Given the description of an element on the screen output the (x, y) to click on. 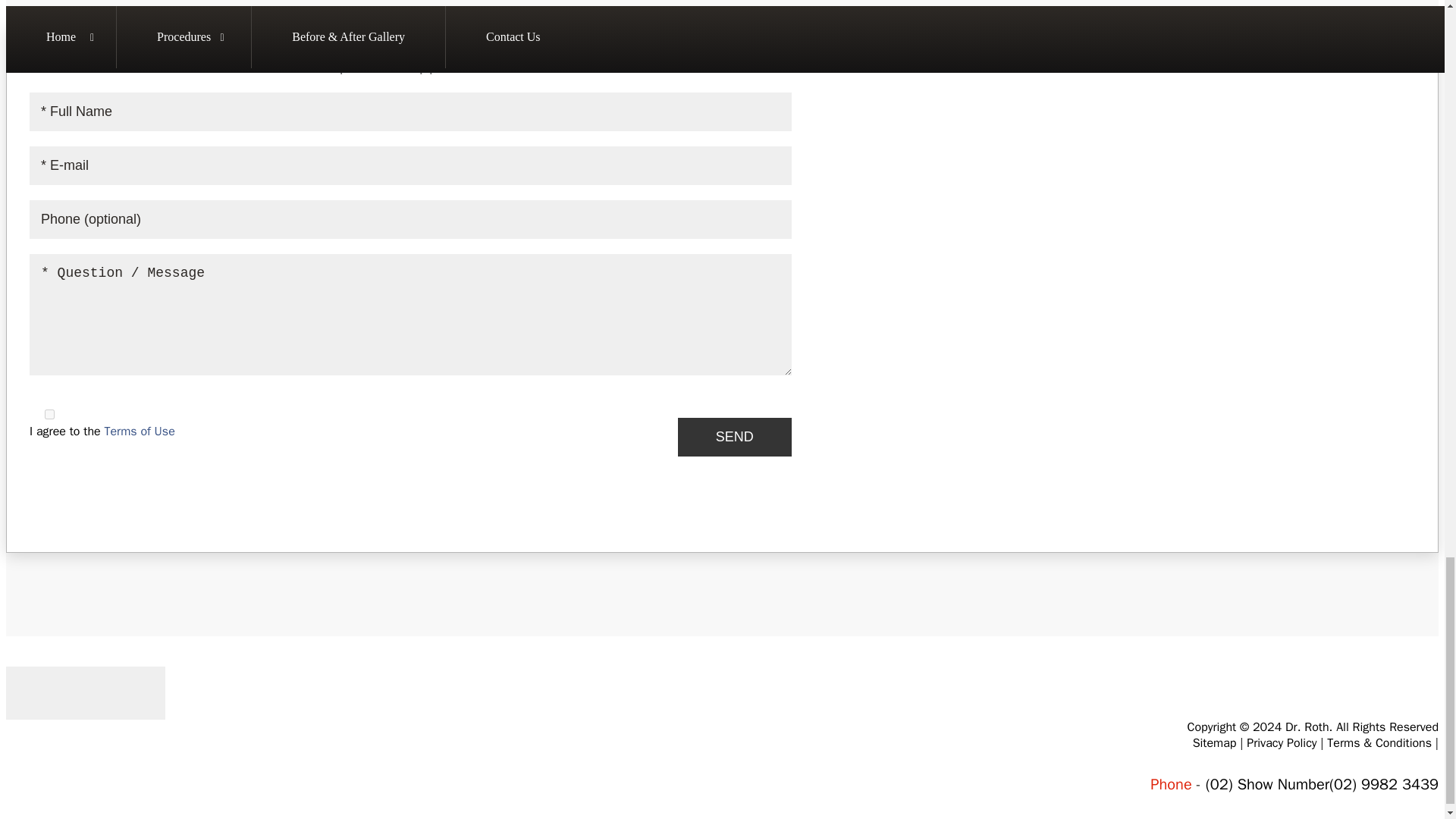
Call Our Northern Beaches Offices Now (1383, 783)
Send (735, 436)
1 (50, 414)
